Given the description of an element on the screen output the (x, y) to click on. 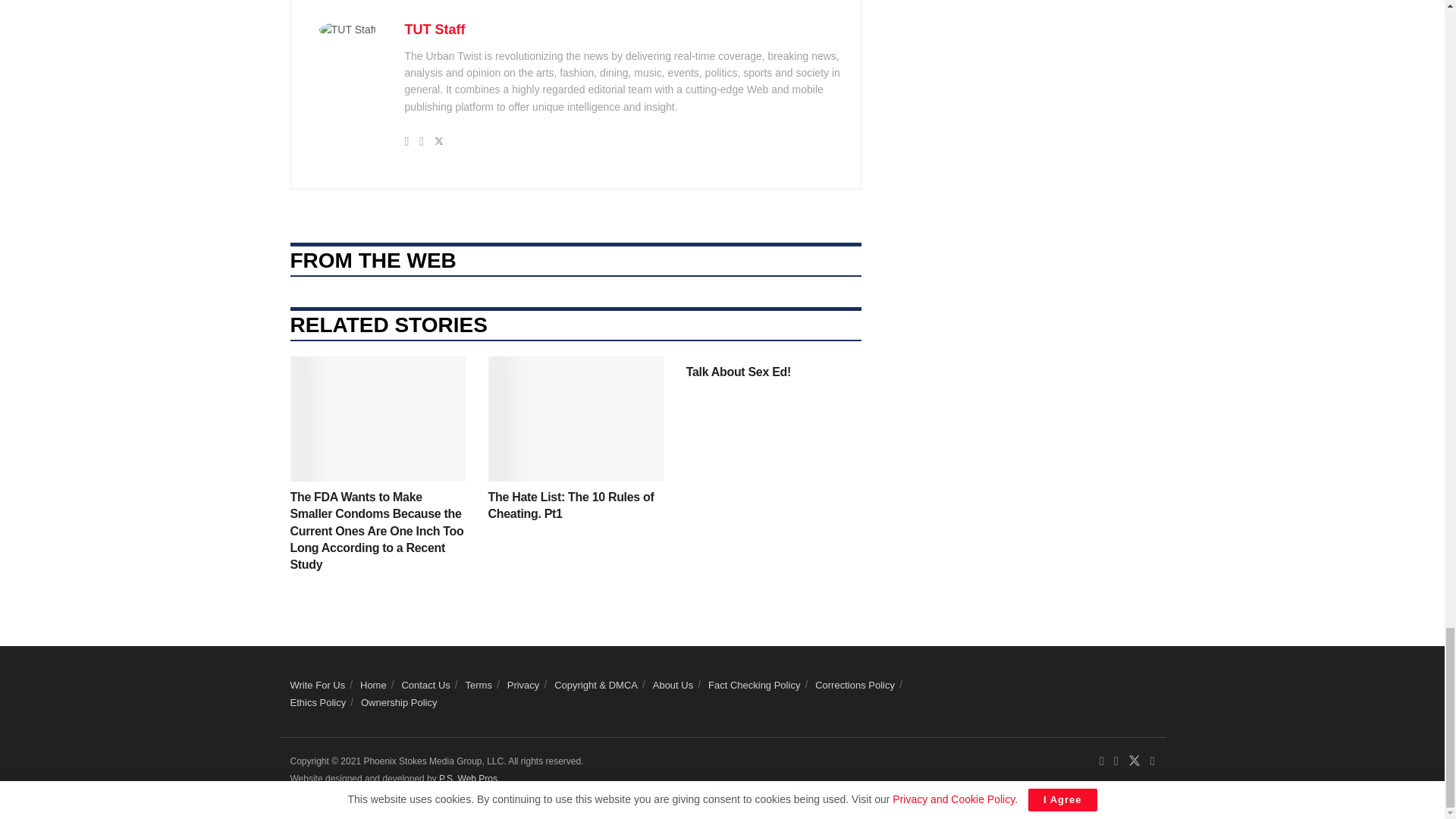
TUT Staff (434, 29)
